Given the description of an element on the screen output the (x, y) to click on. 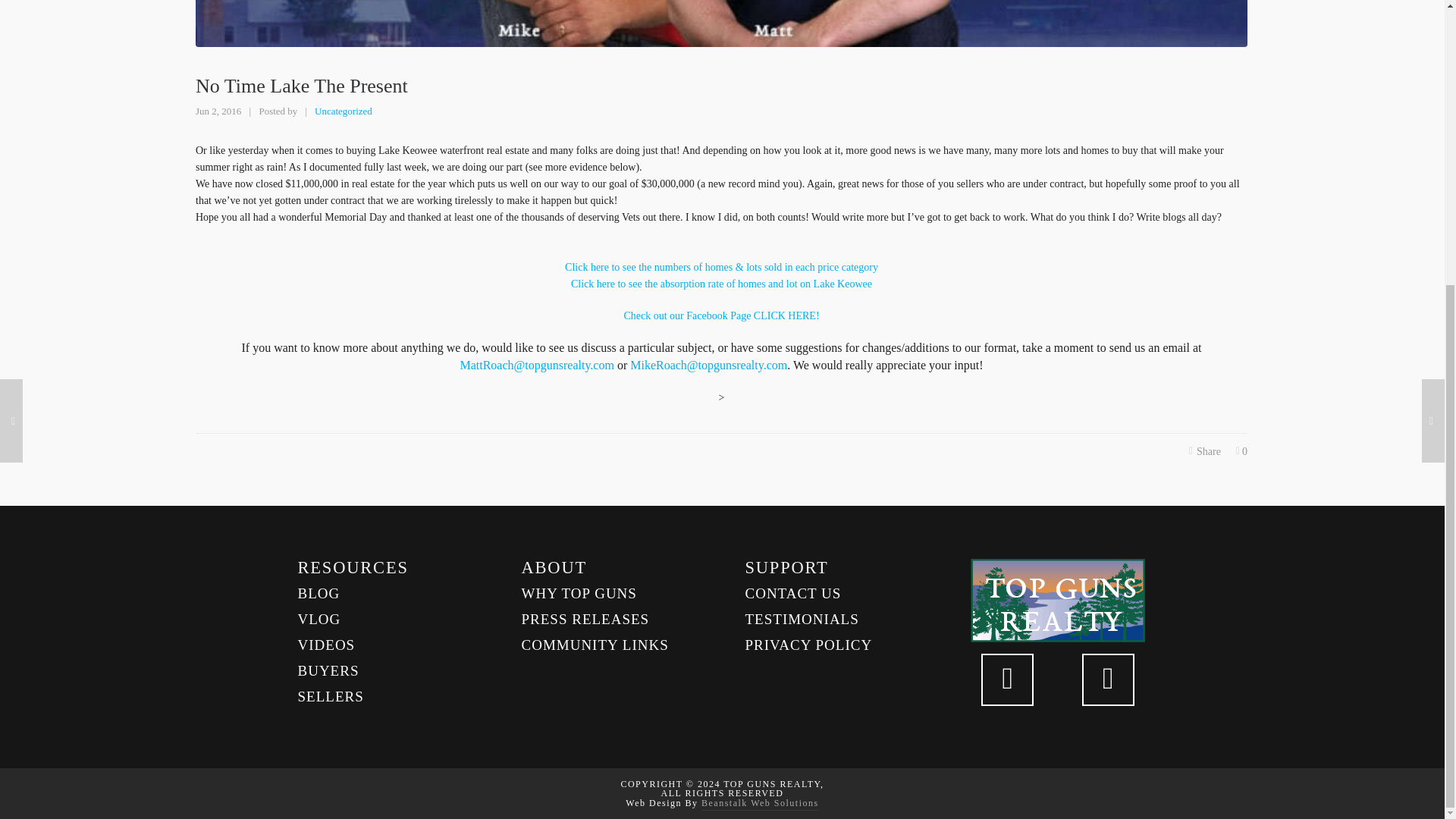
Lake Keowee Real Estate Numbers Roach (721, 283)
Lake Keowee Waterfront Real Estate Numbe (720, 266)
View all posts in Uncategorized (343, 111)
No Time Lake The Present (721, 23)
Lake Keowee Real Estate Reserve (720, 315)
